Given the description of an element on the screen output the (x, y) to click on. 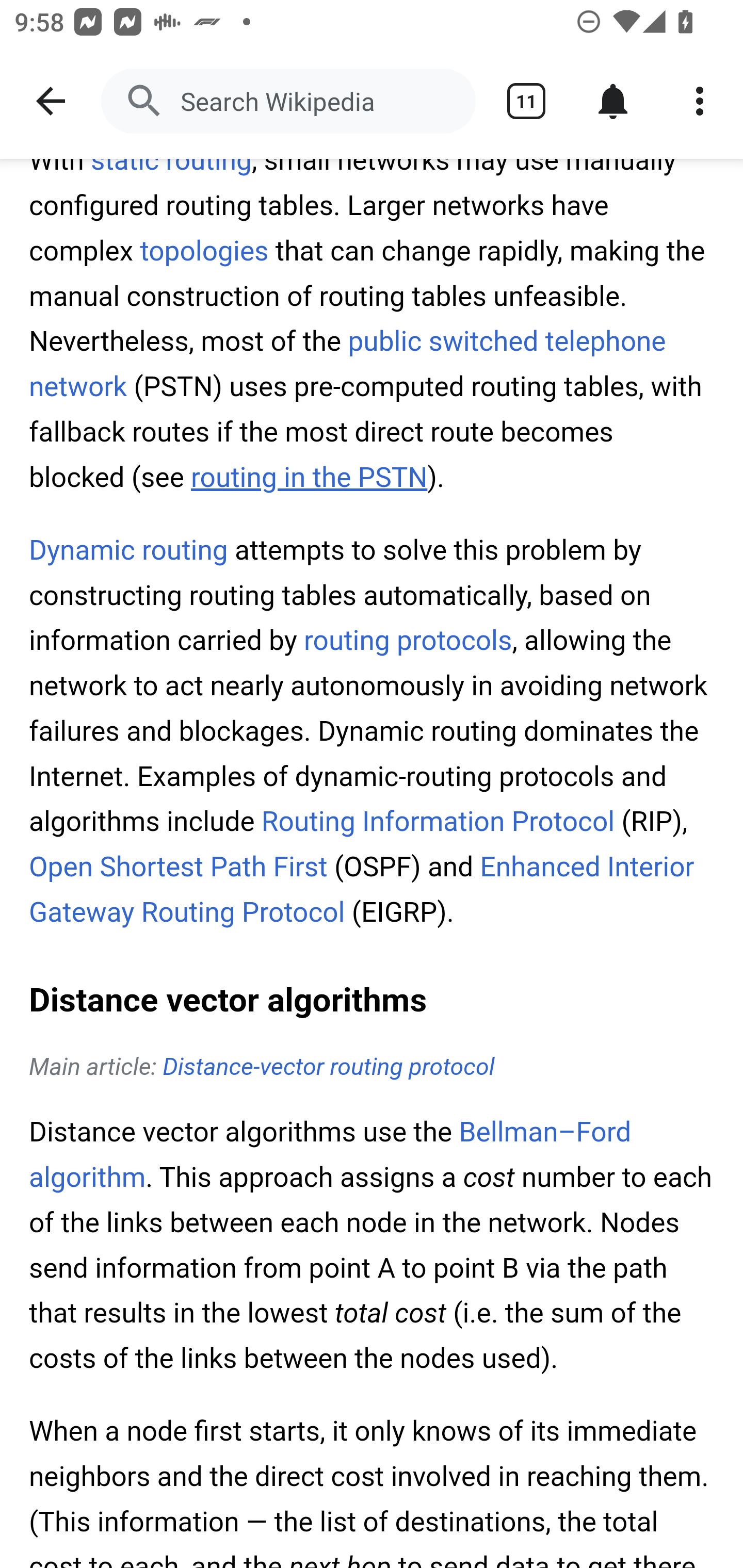
Show tabs 11 (525, 100)
Notifications (612, 100)
Navigate up (50, 101)
More options (699, 101)
Search Wikipedia (288, 100)
topologies (203, 251)
public switched telephone network (347, 364)
routing in the PSTN (308, 477)
Dynamic routing (128, 550)
routing protocols (407, 641)
Routing Information Protocol (437, 821)
Open Shortest Path First (178, 867)
Enhanced Interior Gateway Routing Protocol (361, 890)
Distance-vector routing protocol (328, 1068)
Bellman–Ford algorithm (330, 1155)
